Given the description of an element on the screen output the (x, y) to click on. 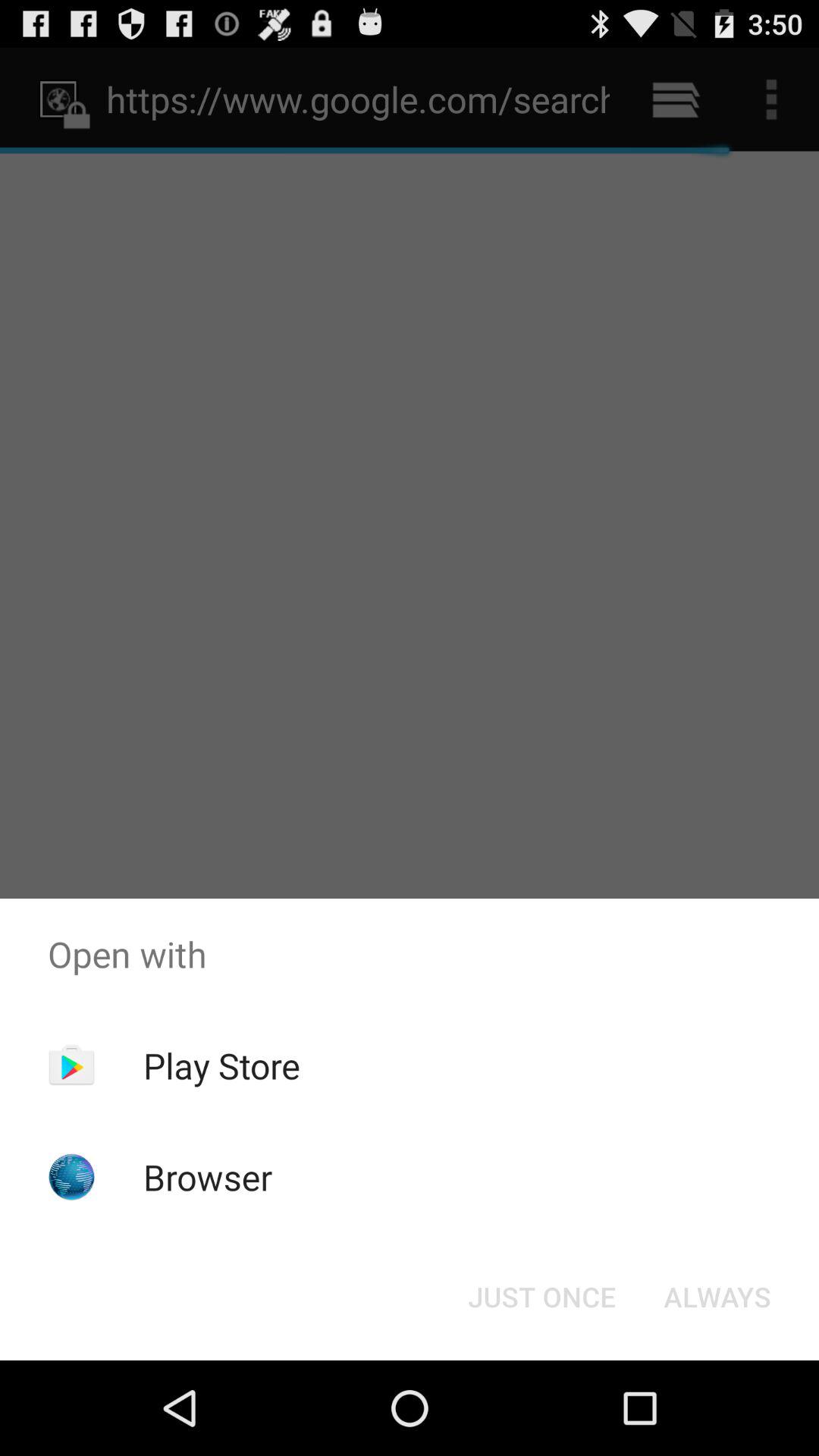
swipe to the just once item (541, 1296)
